Given the description of an element on the screen output the (x, y) to click on. 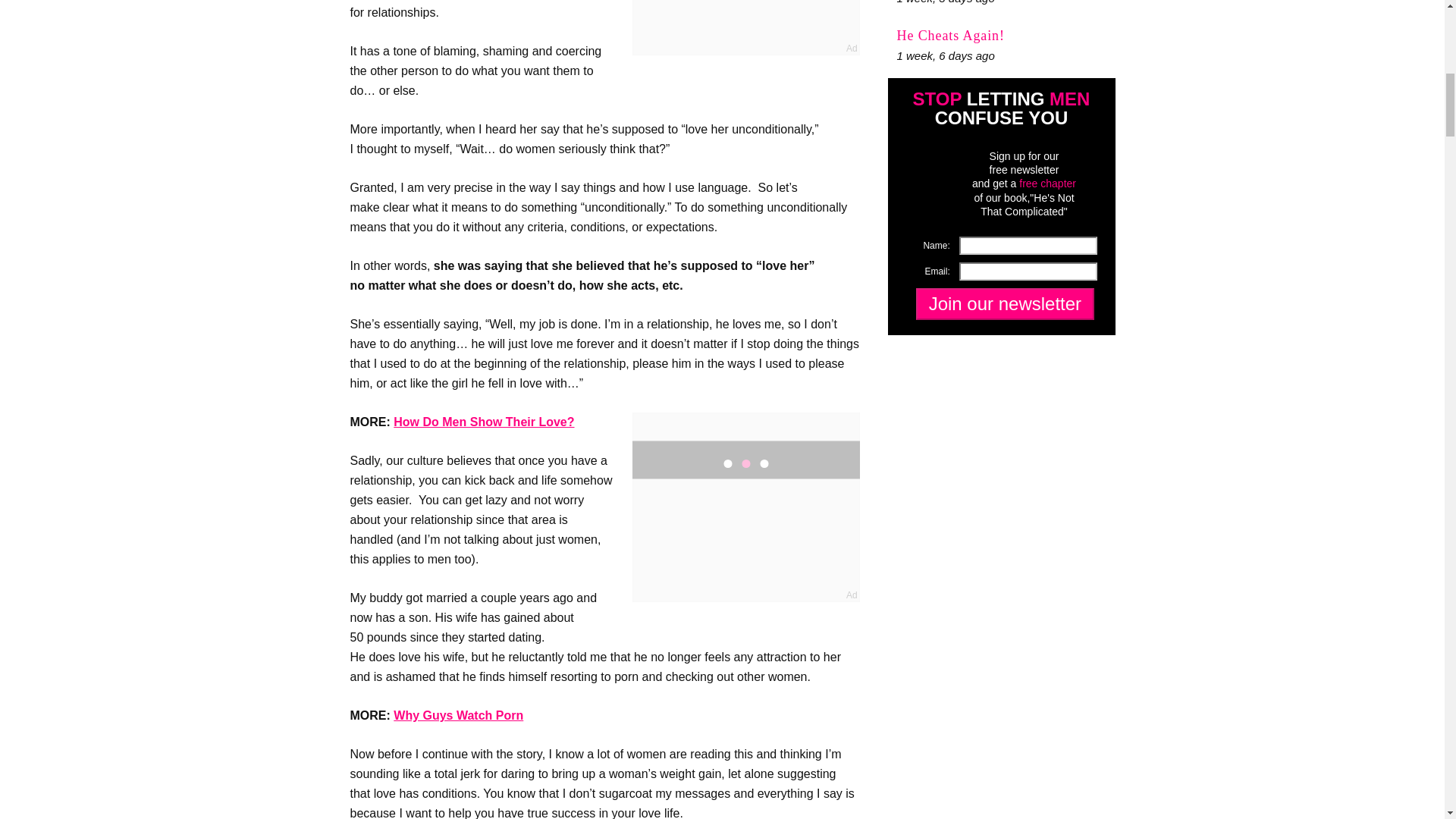
How Do Men Show Their Love? (483, 421)
Why Guys Watch Porn (457, 715)
Join our newsletter (1004, 304)
